Given the description of an element on the screen output the (x, y) to click on. 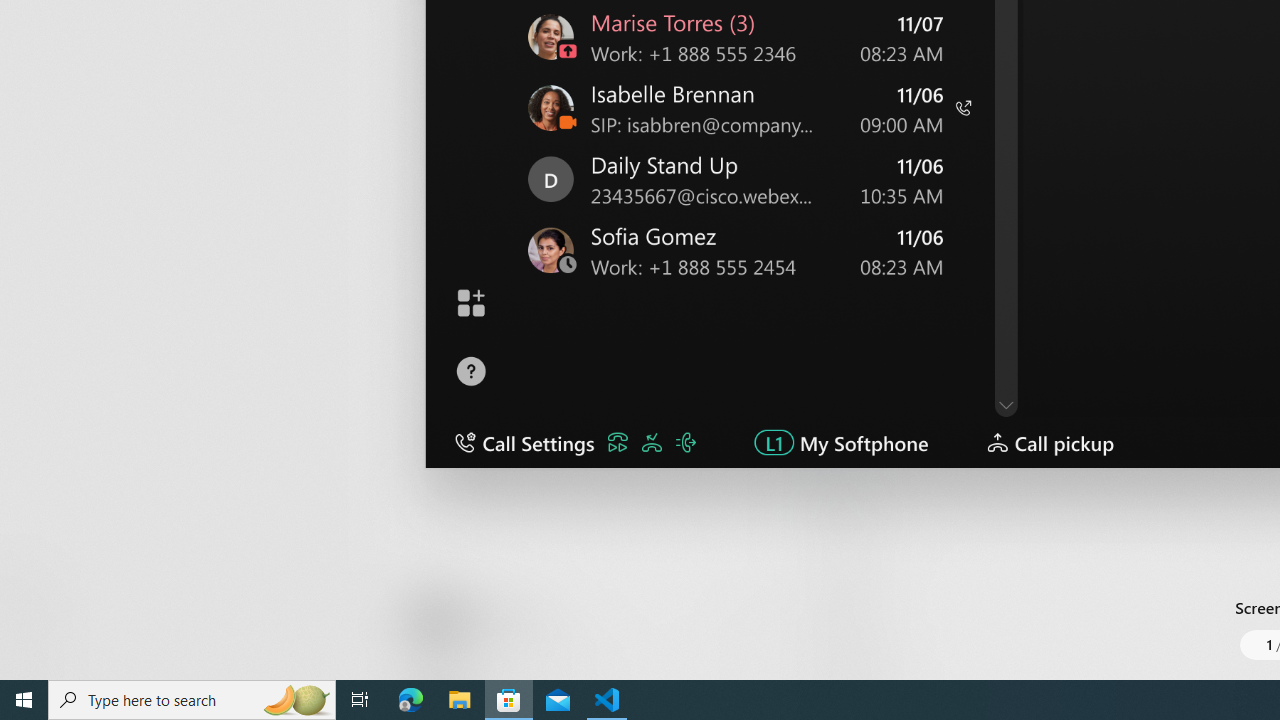
Share (746, 632)
Library (35, 640)
Show all ratings and reviews (838, 441)
What's New (35, 578)
Productivity (579, 30)
Age rating: EVERYONE. Click for more information. (506, 619)
Sign in to review (882, 256)
